Given the description of an element on the screen output the (x, y) to click on. 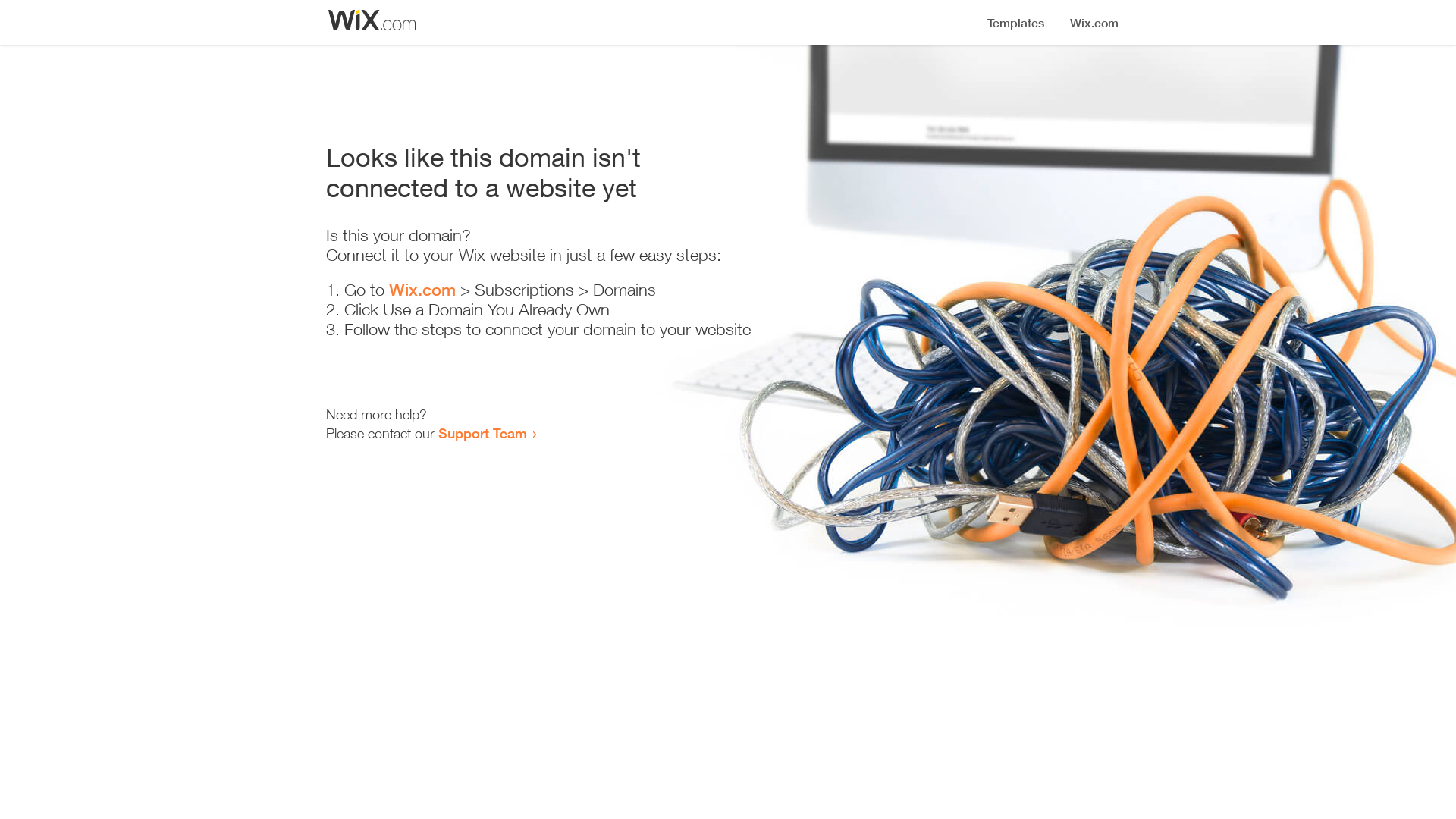
Support Team Element type: text (482, 432)
Wix.com Element type: text (422, 289)
